Given the description of an element on the screen output the (x, y) to click on. 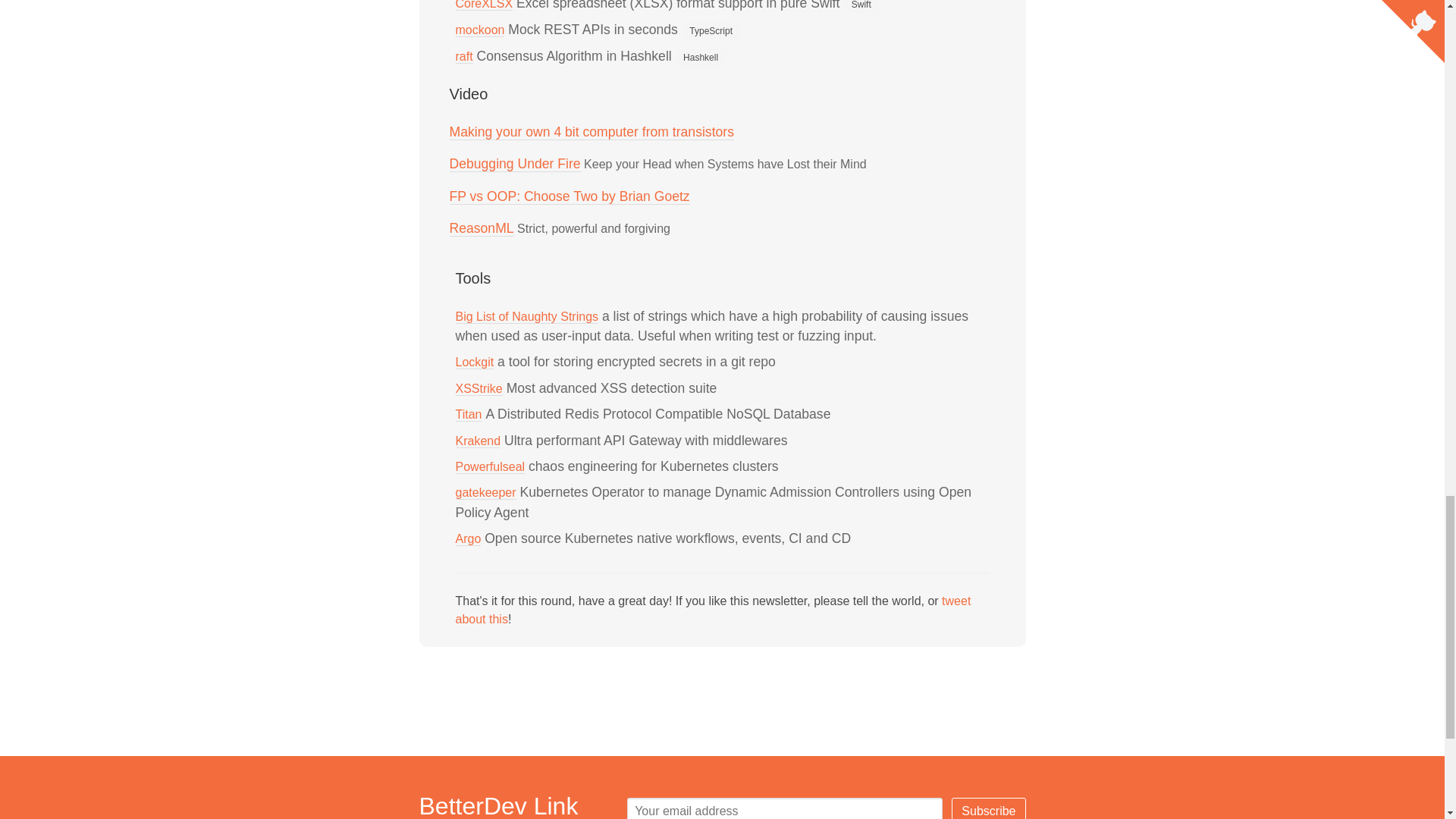
gatekeeper (484, 492)
FP vs OOP: Choose Two by Brian Goetz (568, 196)
Making your own 4 bit computer from transistors (590, 132)
Powerfulseal (489, 467)
Big List of Naughty Strings (526, 316)
Subscribe (988, 808)
raft (462, 56)
Subscribe (988, 808)
ReasonML (480, 228)
Debugging Under Fire (513, 163)
